Given the description of an element on the screen output the (x, y) to click on. 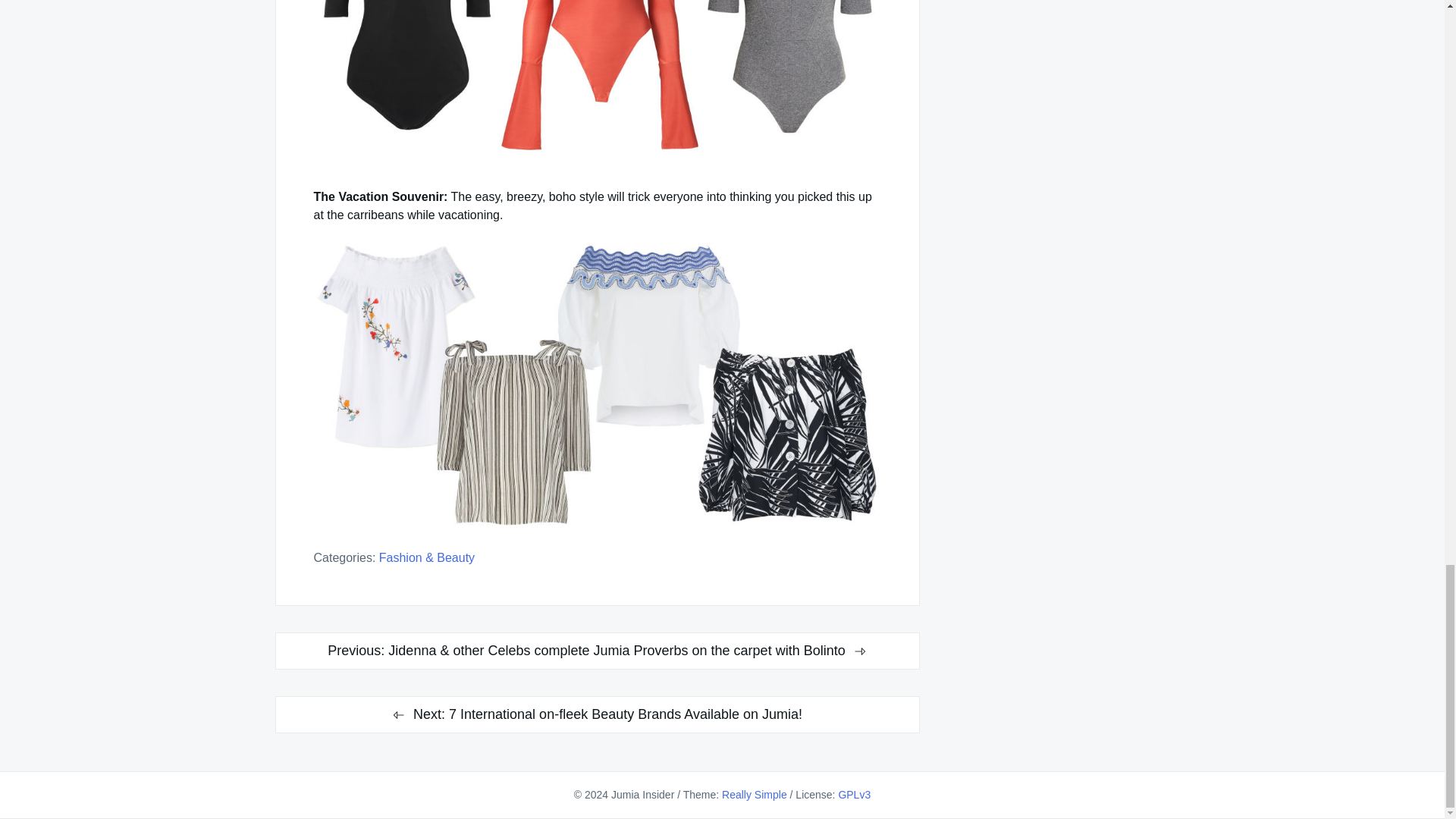
Really Simple (754, 794)
GPLv3 (854, 794)
